Given the description of an element on the screen output the (x, y) to click on. 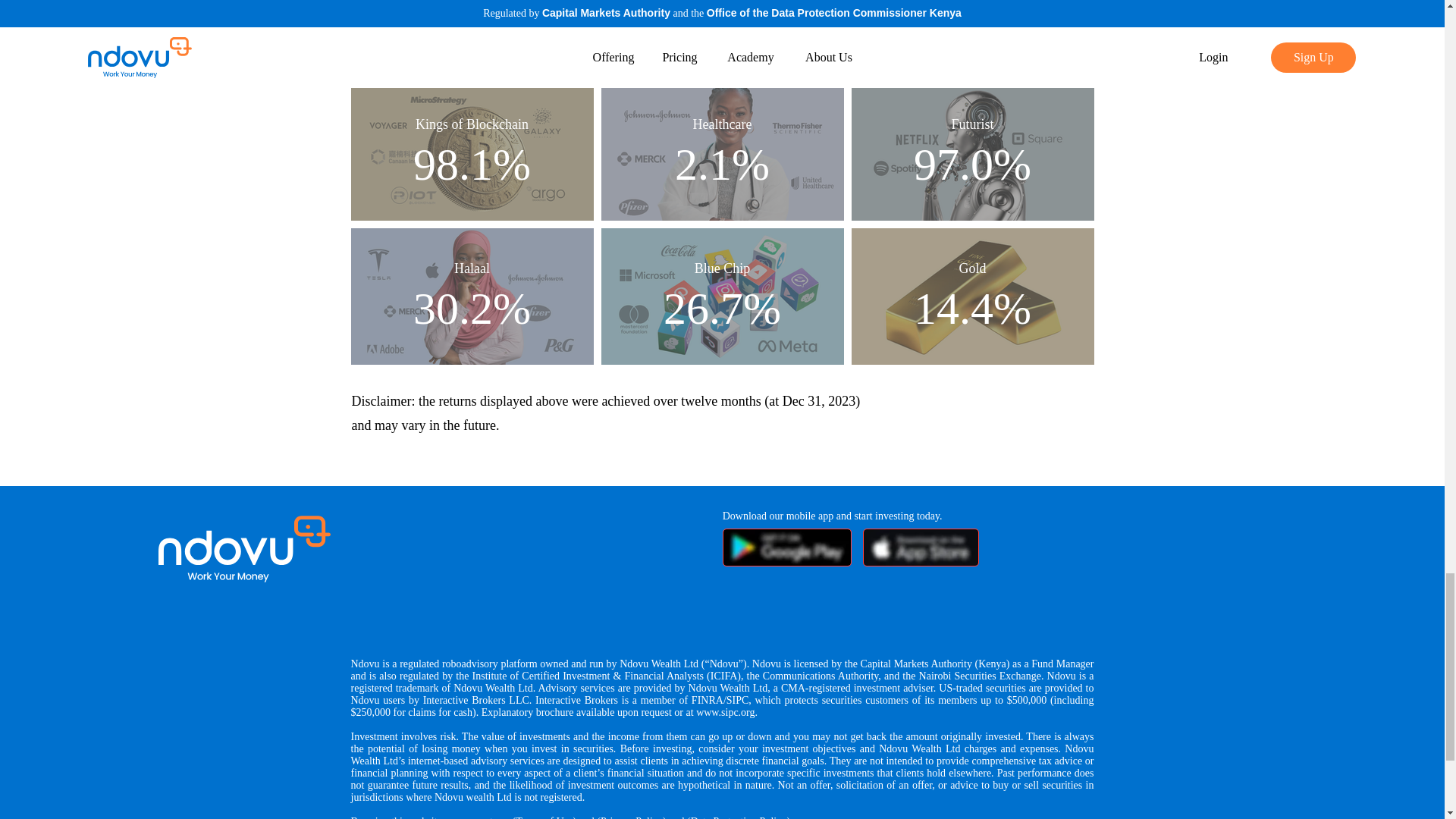
www.sipc.org (724, 712)
Privacy Policy (630, 817)
Data Protection Policy (738, 817)
Terms of Use (543, 817)
